Given the description of an element on the screen output the (x, y) to click on. 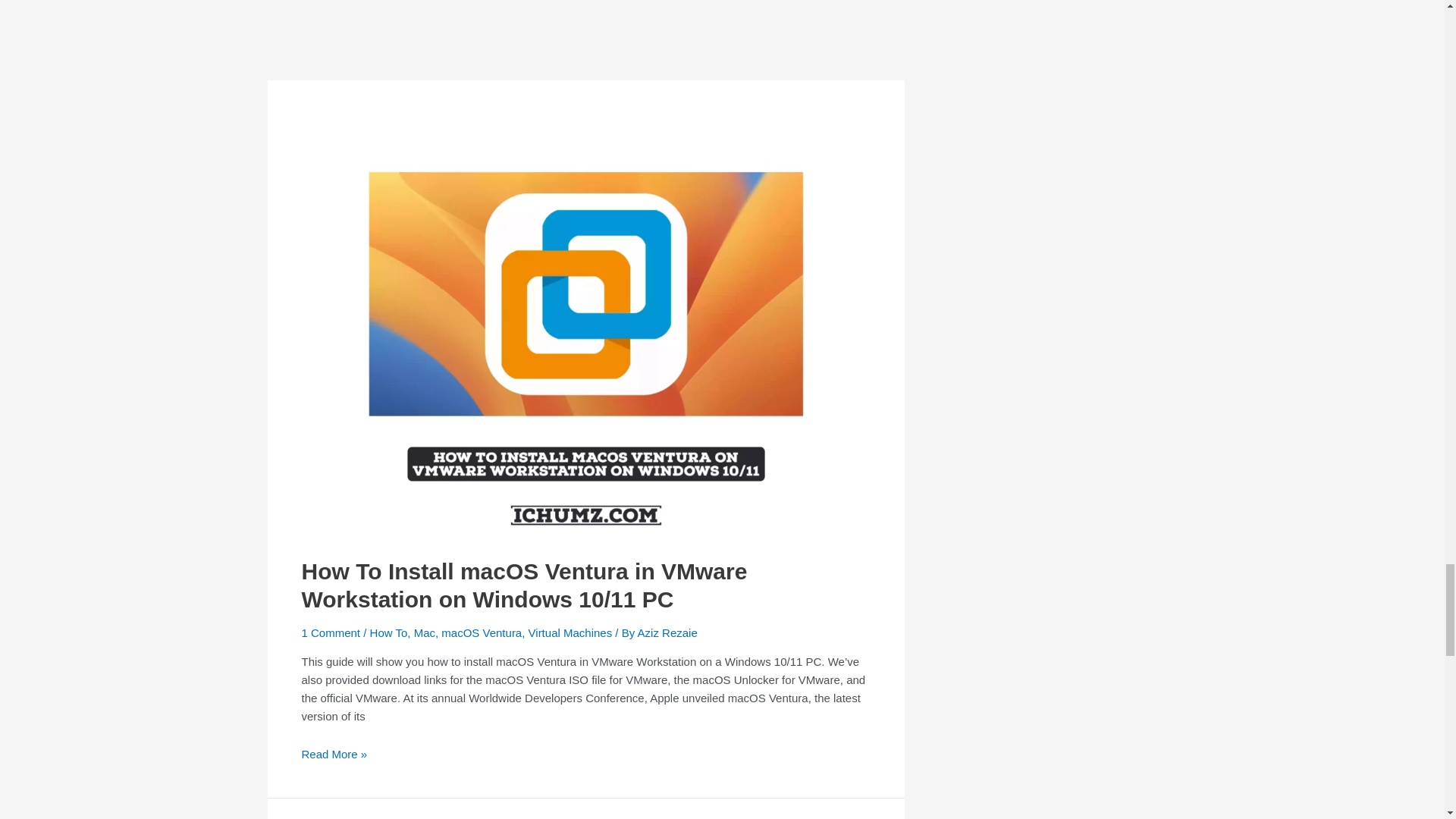
View all posts by Aziz Rezaie (667, 632)
